Given the description of an element on the screen output the (x, y) to click on. 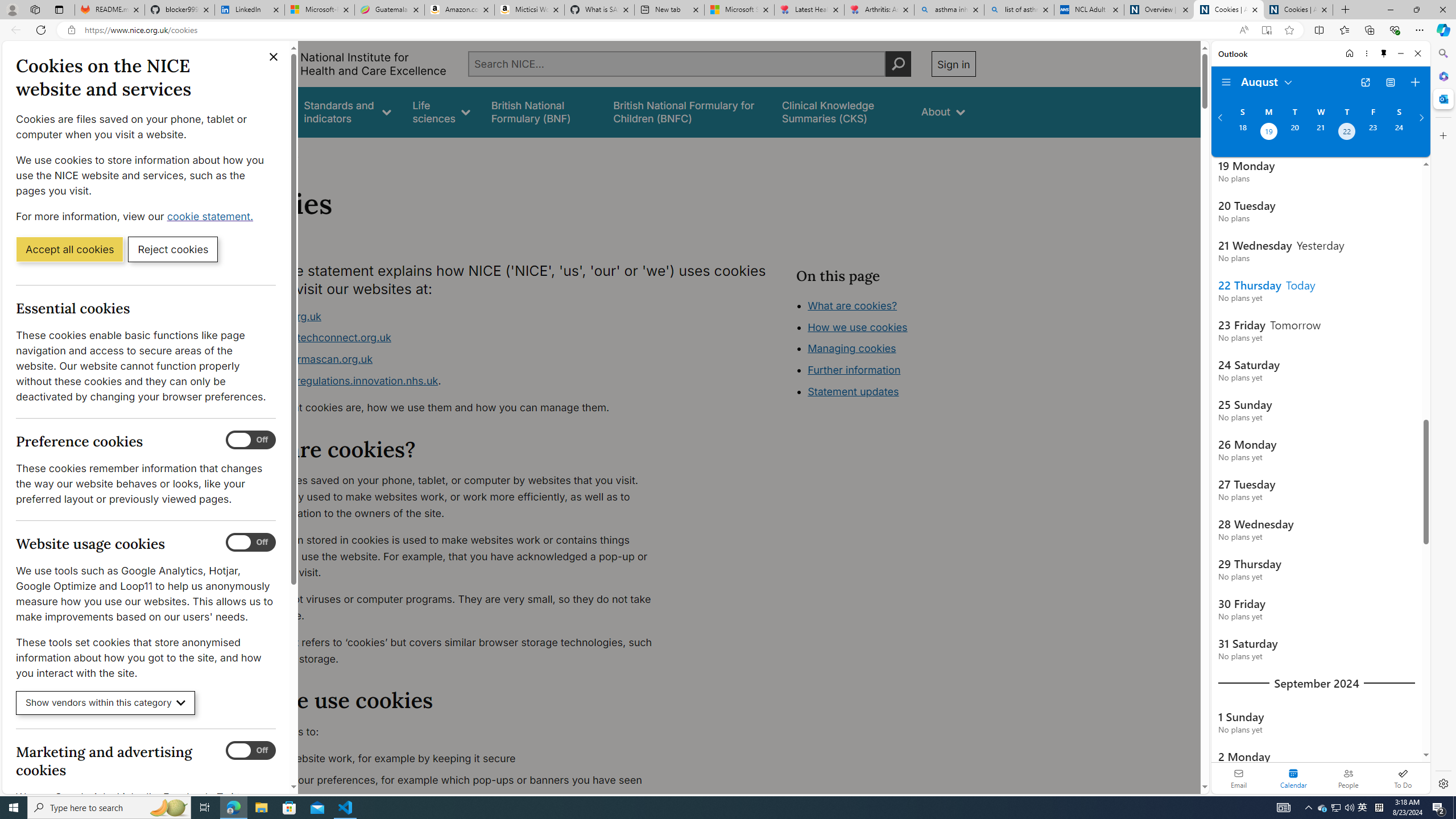
www.healthtechconnect.org.uk (452, 338)
NCL Adult Asthma Inhaler Choice Guideline (1088, 9)
Thursday, August 22, 2024. Today.  (1346, 132)
www.nice.org.uk (452, 316)
Open in new tab (1365, 82)
Friday, August 23, 2024.  (1372, 132)
Unpin side pane (1383, 53)
asthma inhaler - Search (949, 9)
